Given the description of an element on the screen output the (x, y) to click on. 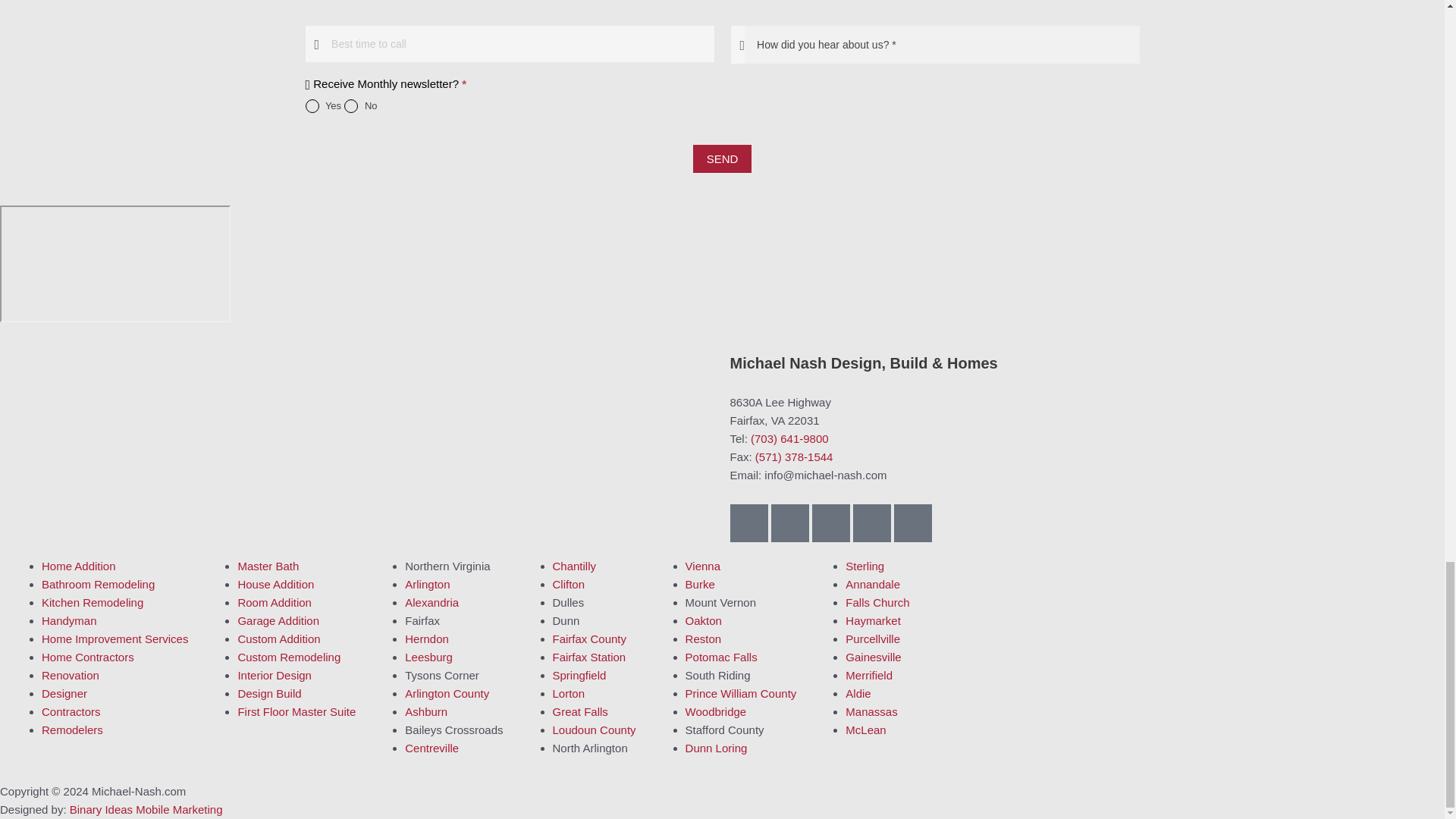
Yes (311, 106)
